Given the description of an element on the screen output the (x, y) to click on. 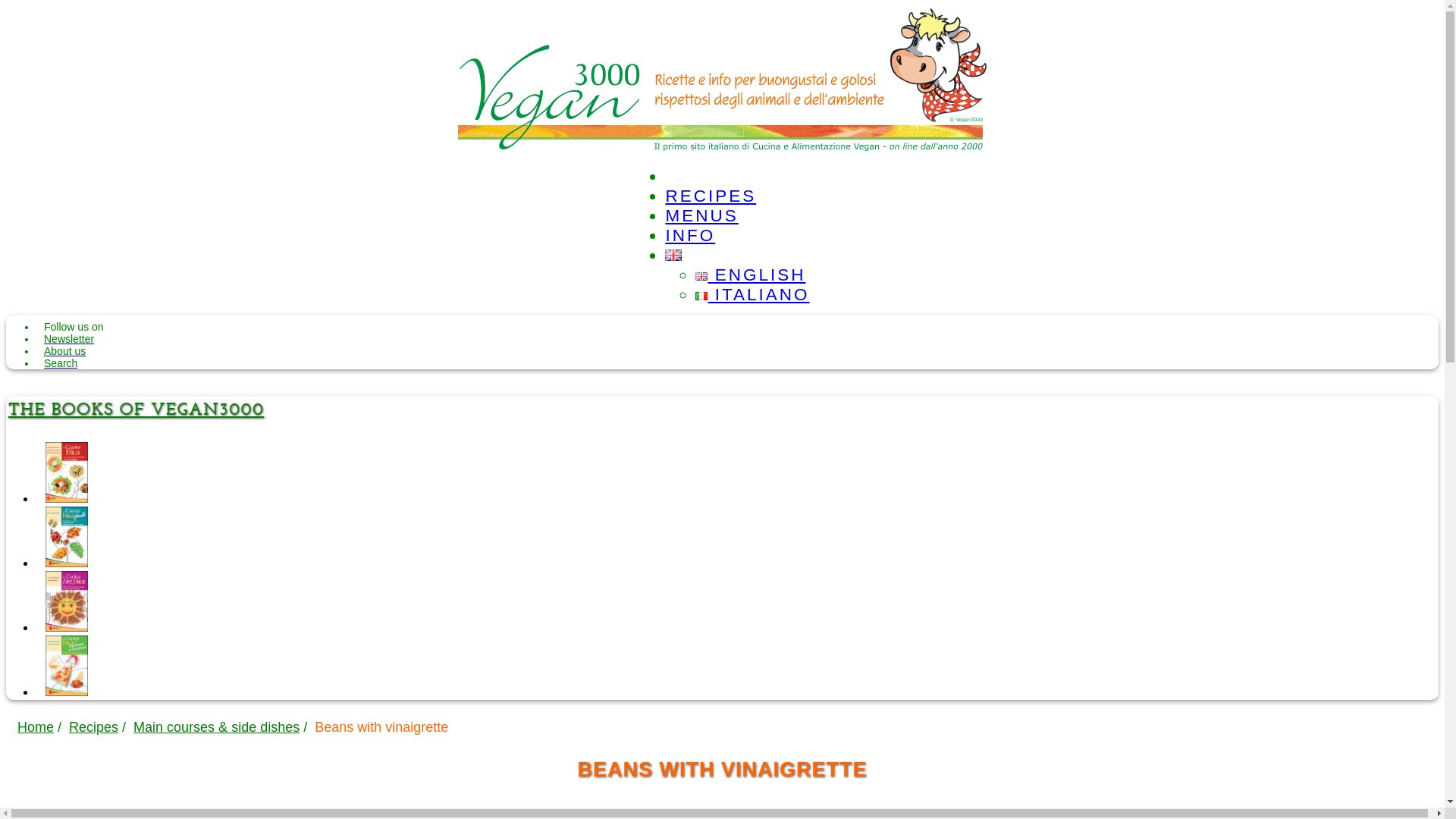
MENUS (701, 215)
Fagioli in pinzimonio (77, 816)
ITALIANO (752, 294)
Recipes (92, 726)
Search (60, 363)
Search (60, 363)
La Cucina Etica Facile (66, 562)
RECIPES (710, 195)
About us (64, 350)
Home (35, 726)
